Given the description of an element on the screen output the (x, y) to click on. 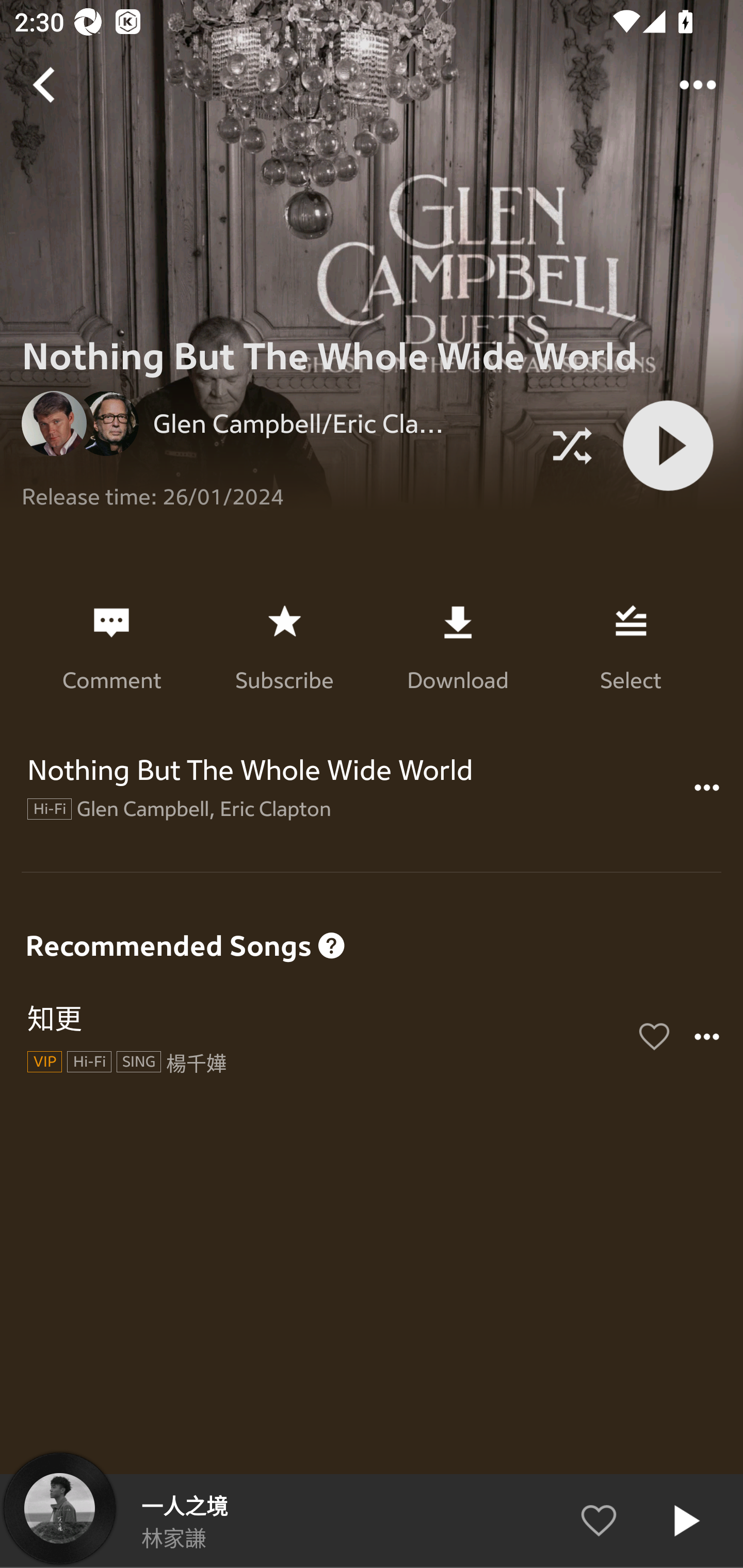
Glen Campbell/Eric Clapton (276, 423)
Glen Campbell/Eric Clapton (291, 423)
Release time: 26/01/2024 (276, 489)
Comment (111, 647)
Subscribe (284, 647)
Download (457, 647)
Select (630, 647)
Recommended Songs (371, 912)
知更 VIP Hi-Fi SING 楊千嬅 (371, 1036)
一人之境 林家謙 (371, 1520)
